Given the description of an element on the screen output the (x, y) to click on. 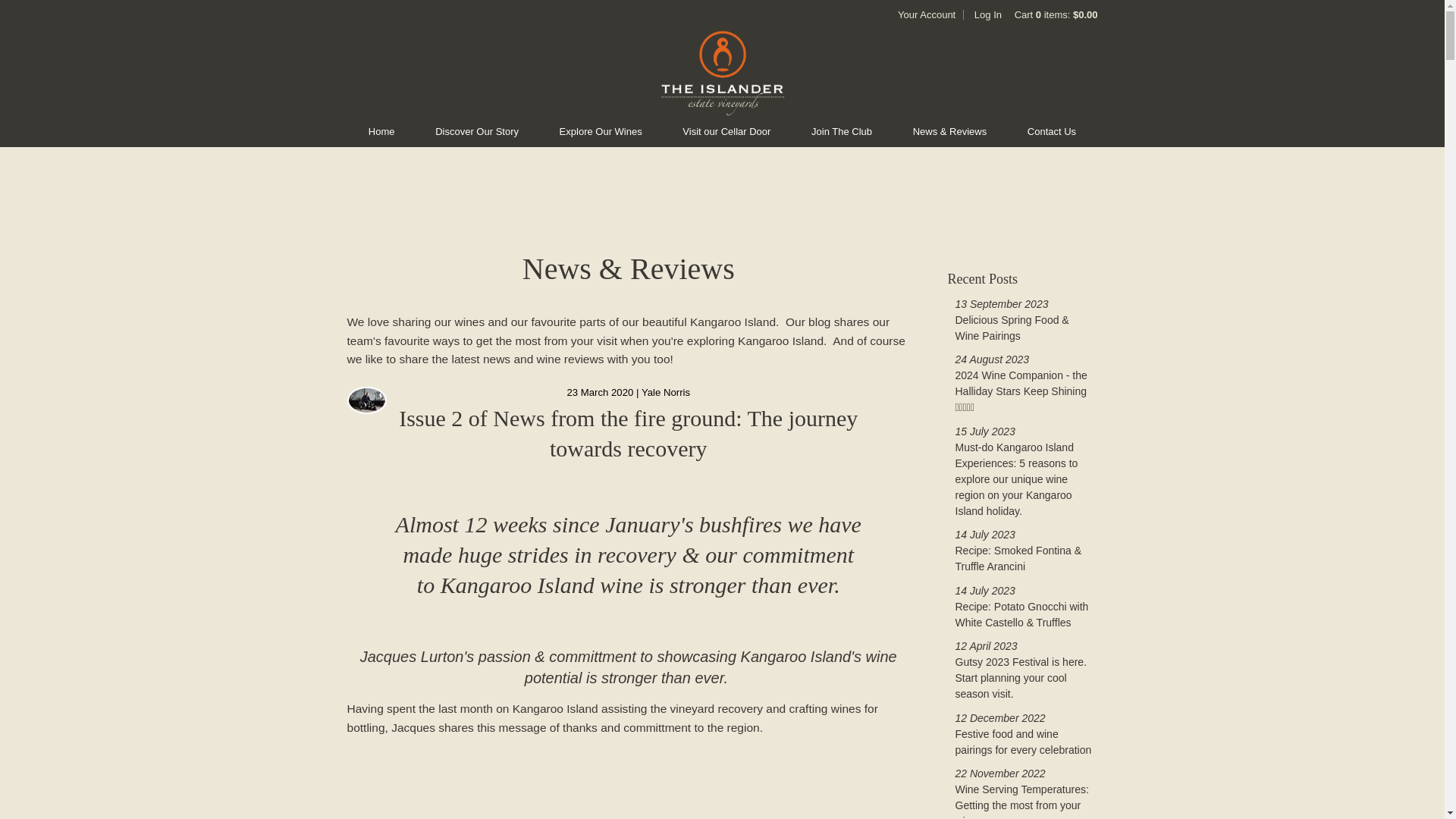
Recipe: Smoked Fontina & Truffle Arancini Element type: text (1018, 558)
News & Reviews Element type: text (950, 131)
Yale Norris Element type: text (665, 392)
Explore Our Wines Element type: text (600, 131)
Cart 0 items: $0.00 Element type: text (1056, 14)
Visit our Cellar Door Element type: text (726, 131)
The Islander Estate Vineyards Element type: text (721, 72)
Home Element type: text (381, 131)
Your Account Element type: text (926, 14)
Recipe: Potato Gnocchi with White Castello & Truffles Element type: text (1021, 614)
Join The Club Element type: text (841, 131)
Discover Our Story Element type: text (476, 131)
Delicious Spring Food & Wine Pairings Element type: text (1012, 327)
Log In Element type: text (987, 14)
Contact Us Element type: text (1051, 131)
Festive food and wine pairings for every celebration Element type: text (1023, 742)
